Given the description of an element on the screen output the (x, y) to click on. 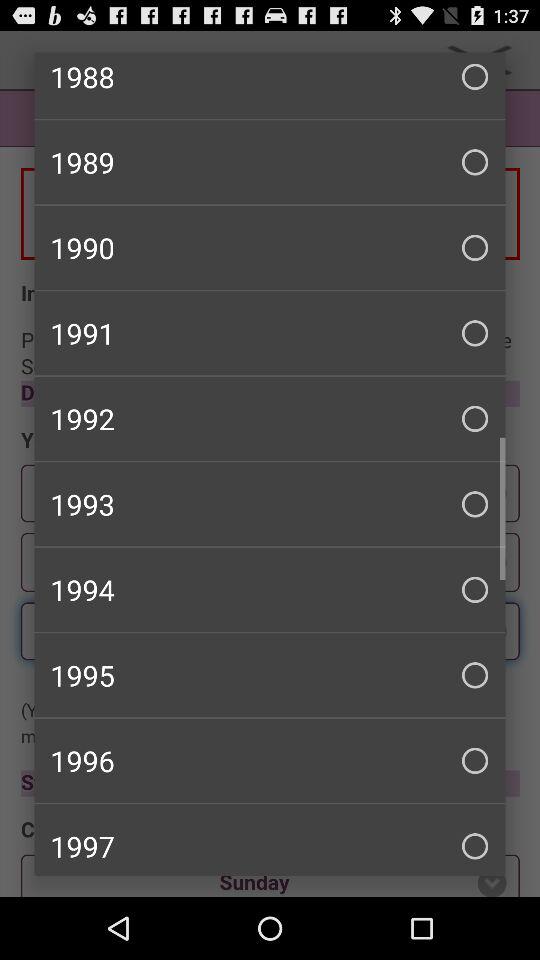
open checkbox below 1992 (269, 504)
